Given the description of an element on the screen output the (x, y) to click on. 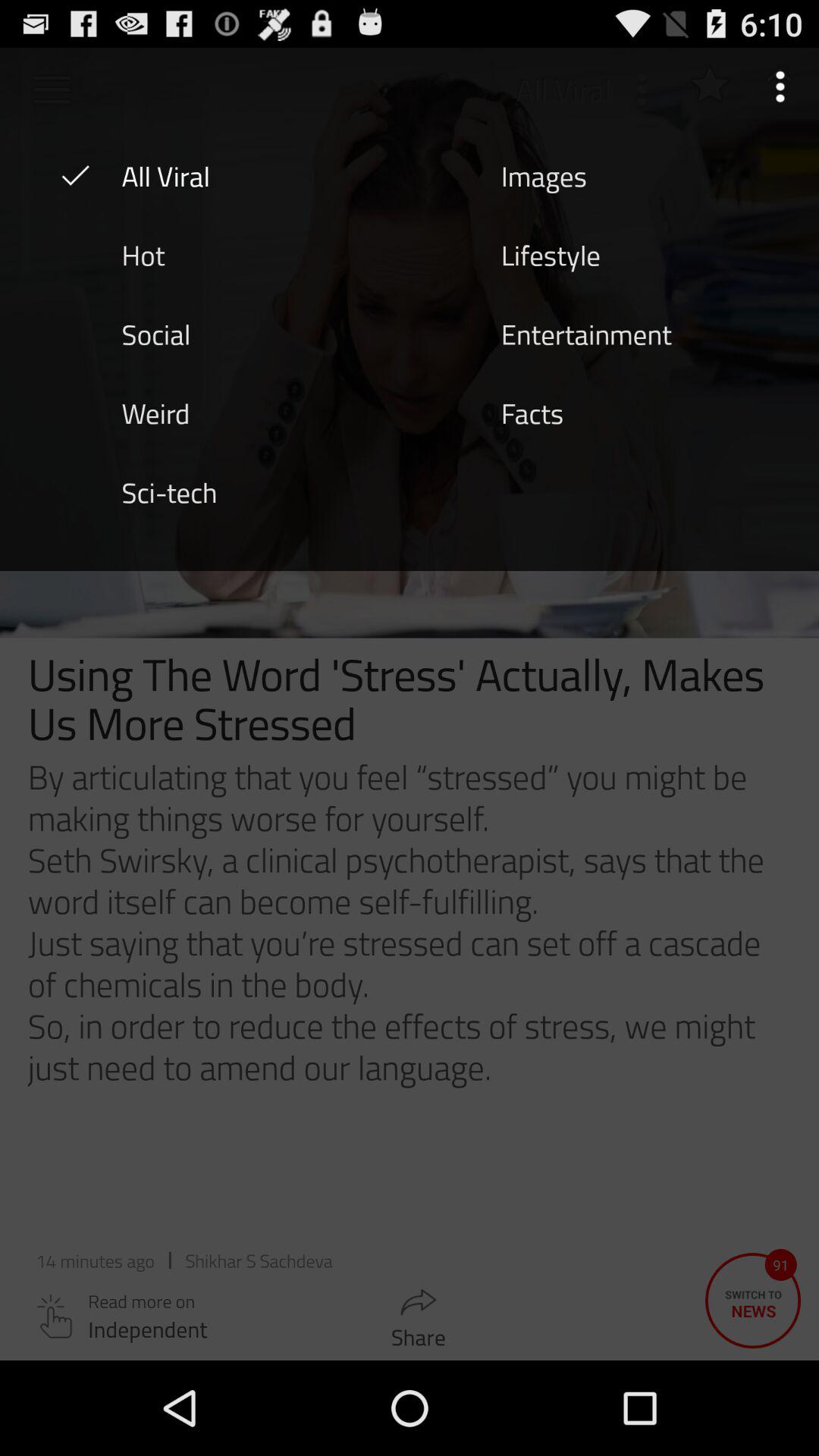
choose the social icon (155, 332)
